Given the description of an element on the screen output the (x, y) to click on. 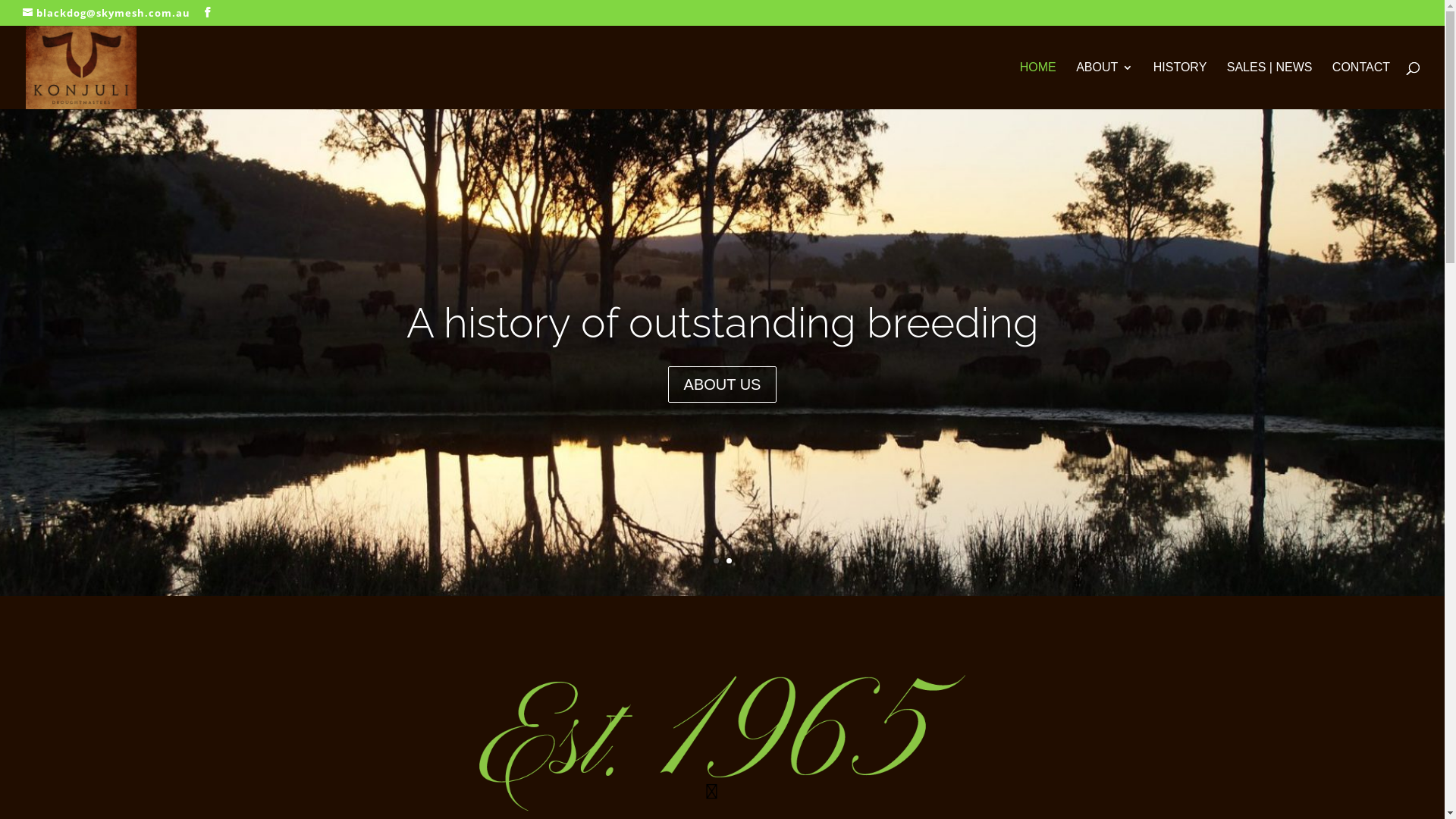
ABOUT Element type: text (1104, 85)
2 Element type: text (728, 560)
SALES | NEWS Element type: text (1269, 85)
ABOUT US Element type: text (722, 384)
HISTORY Element type: text (1180, 85)
A history of outstanding breeding Element type: text (722, 322)
1 Element type: text (715, 560)
CONTACT Element type: text (1361, 85)
HOME Element type: text (1037, 85)
blackdog@skymesh.com.au Element type: text (106, 12)
